Given the description of an element on the screen output the (x, y) to click on. 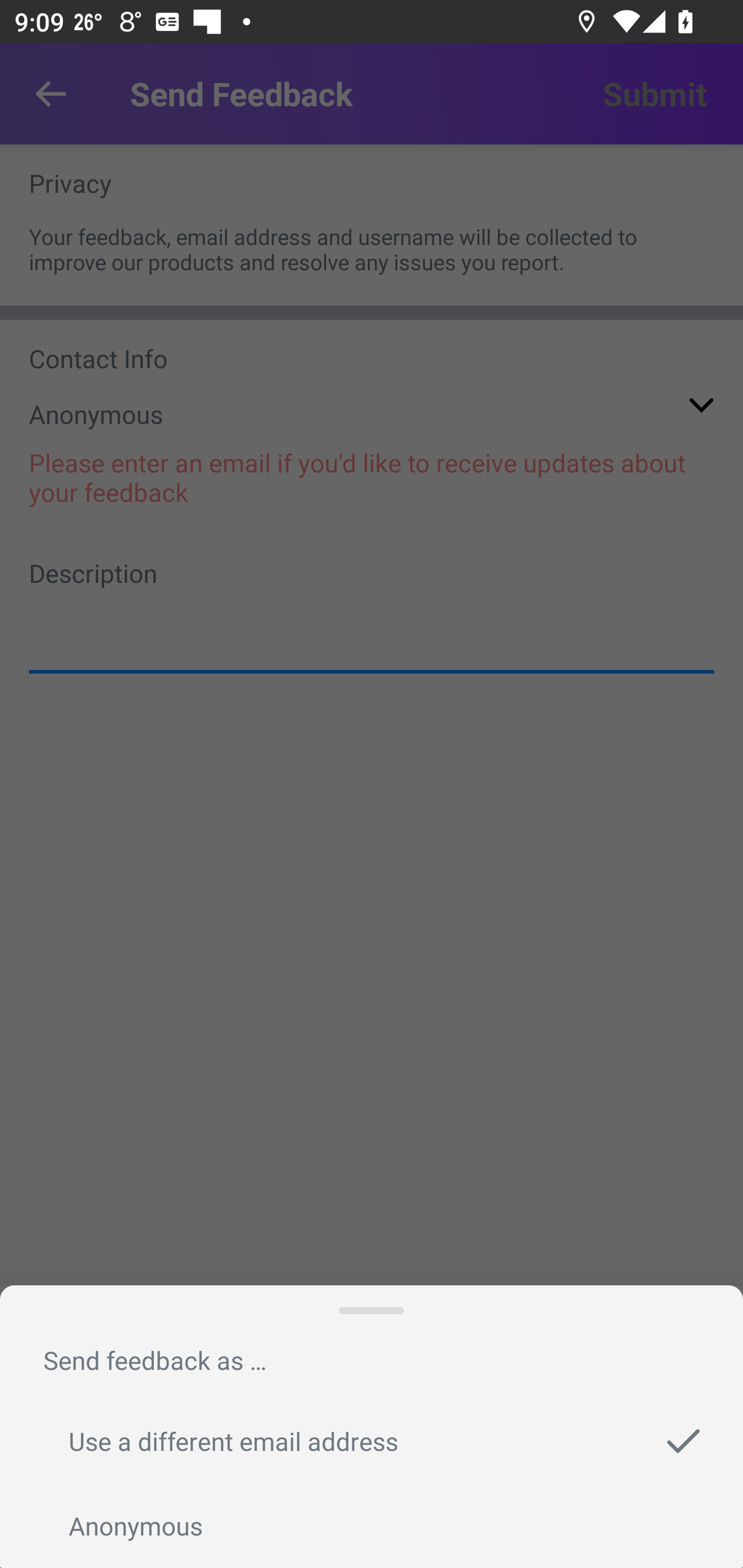
Send feedback as … (155, 1359)
Use a different email address (371, 1440)
Anonymous (371, 1525)
